Given the description of an element on the screen output the (x, y) to click on. 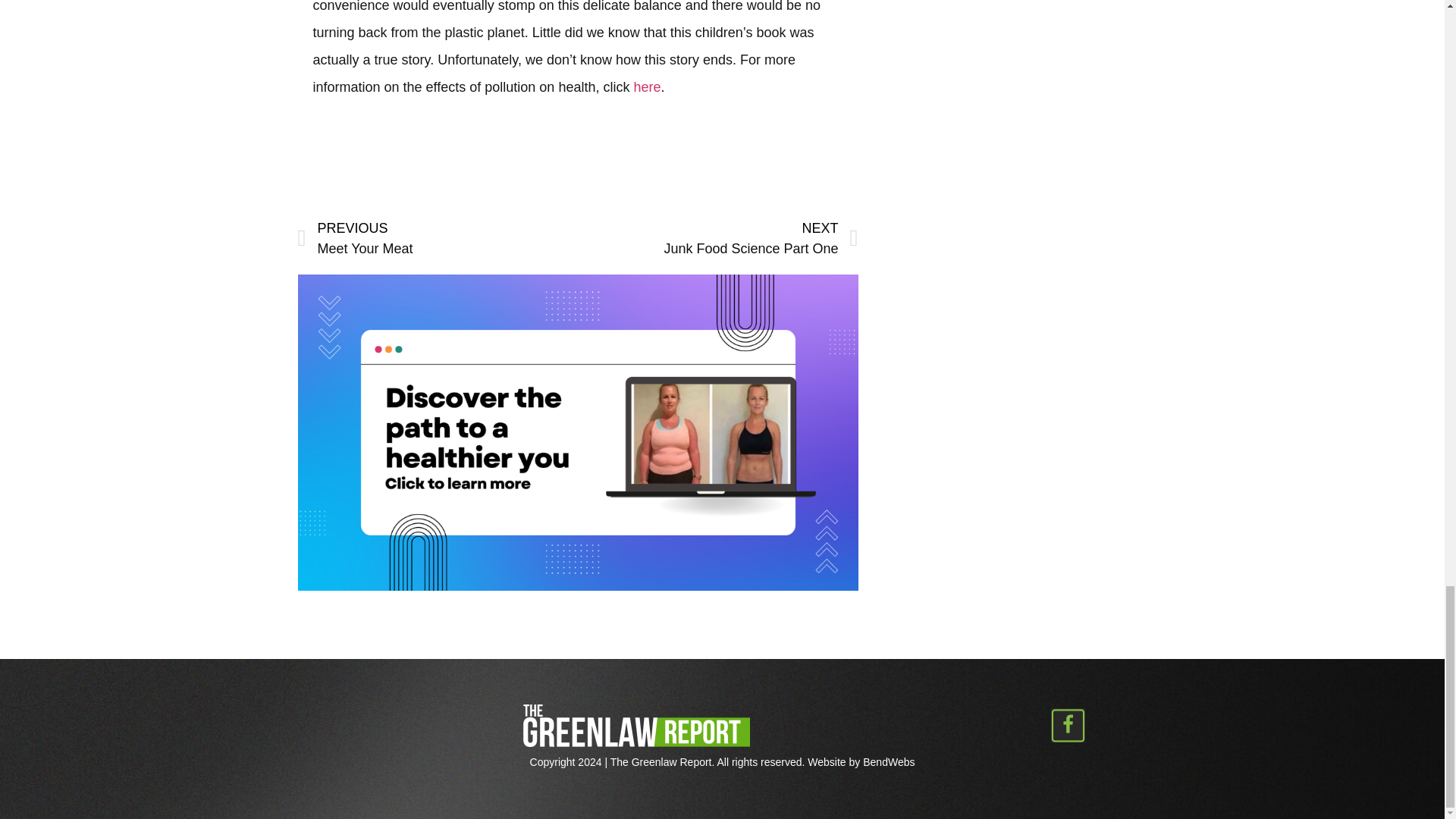
Facebook-Icon (1067, 725)
BendWebs (717, 238)
here (888, 761)
